Given the description of an element on the screen output the (x, y) to click on. 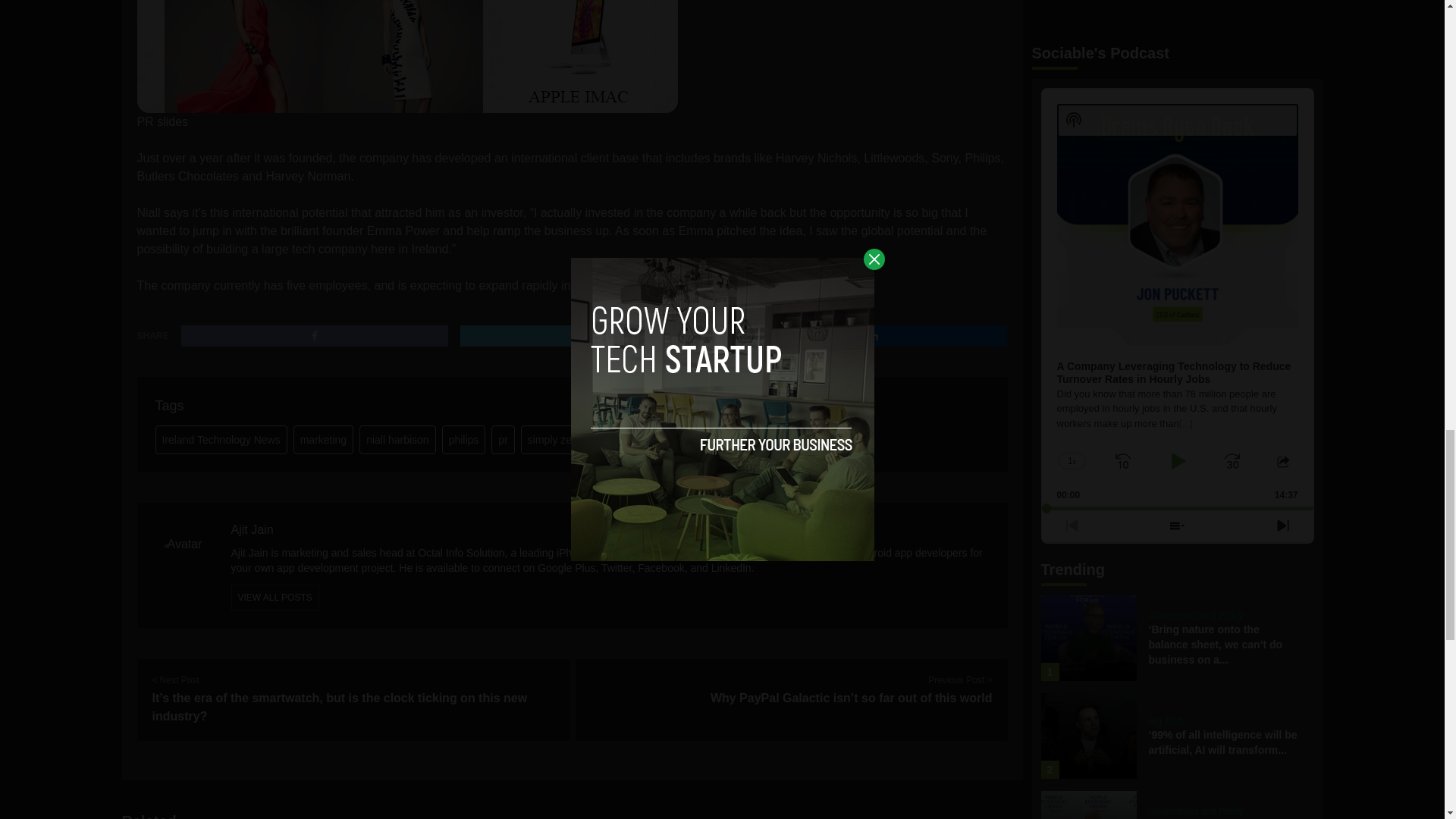
marketing (323, 439)
philips (464, 439)
niall harbison (397, 439)
Ireland Technology News (220, 439)
